Given the description of an element on the screen output the (x, y) to click on. 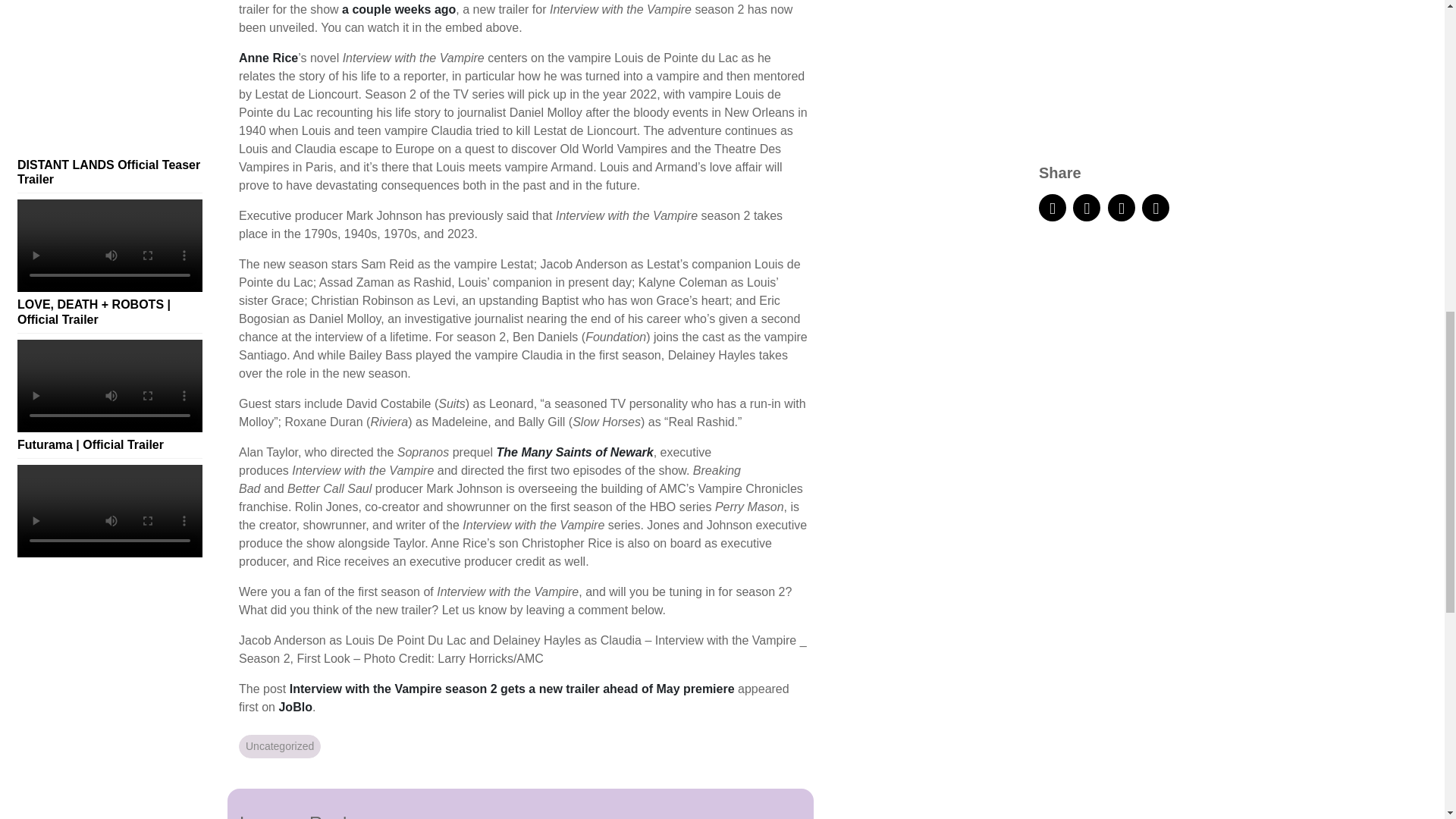
The Many Saints of Newark (574, 451)
a couple weeks ago (398, 9)
JoBlo (294, 707)
Uncategorized (279, 746)
Anne Rice (268, 57)
